Given the description of an element on the screen output the (x, y) to click on. 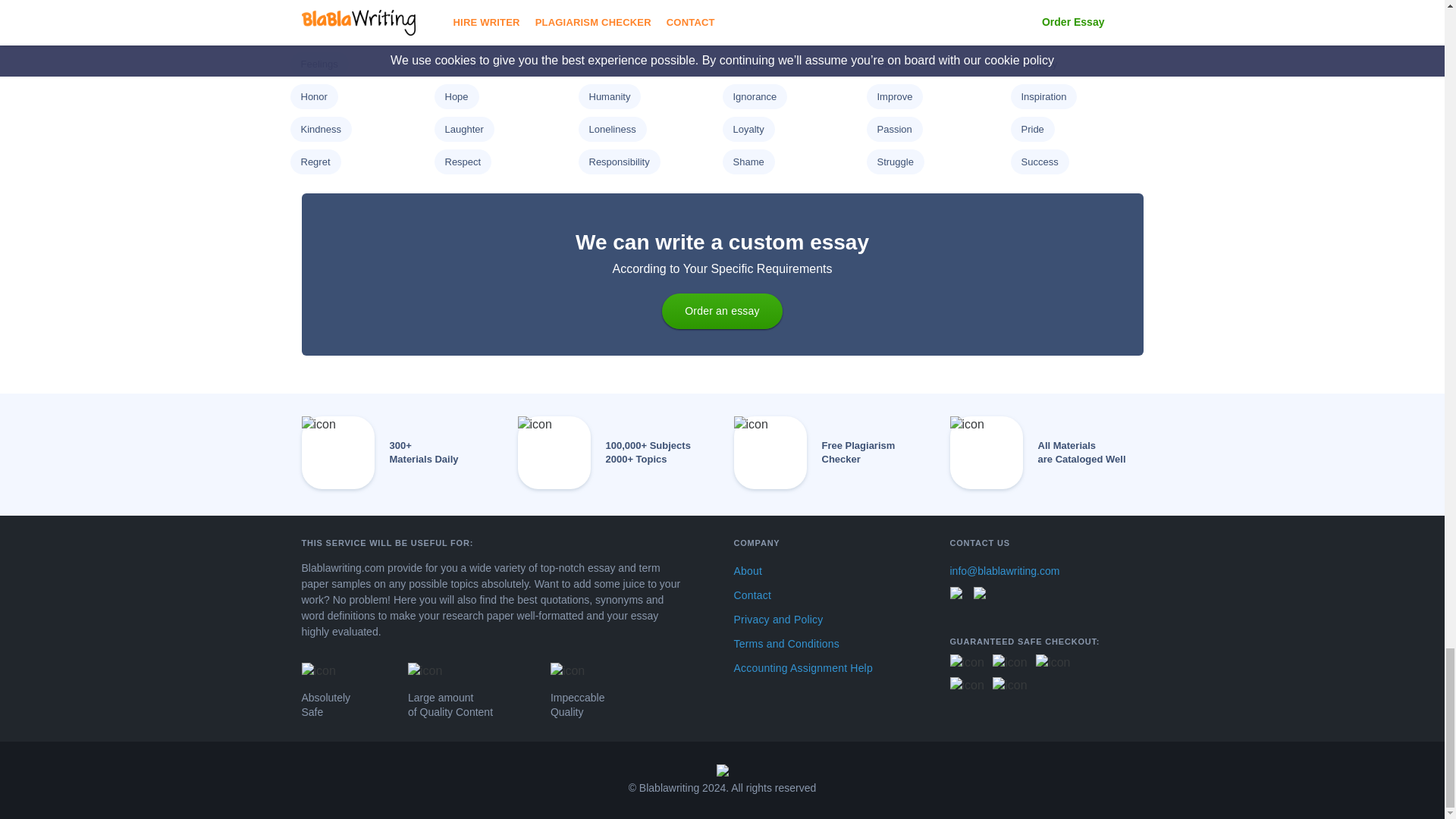
Courage (318, 30)
Confidence (1045, 2)
Betrayal (750, 2)
Adversity (319, 2)
Compassion (903, 2)
Ambition (463, 2)
Anger (601, 2)
